Given the description of an element on the screen output the (x, y) to click on. 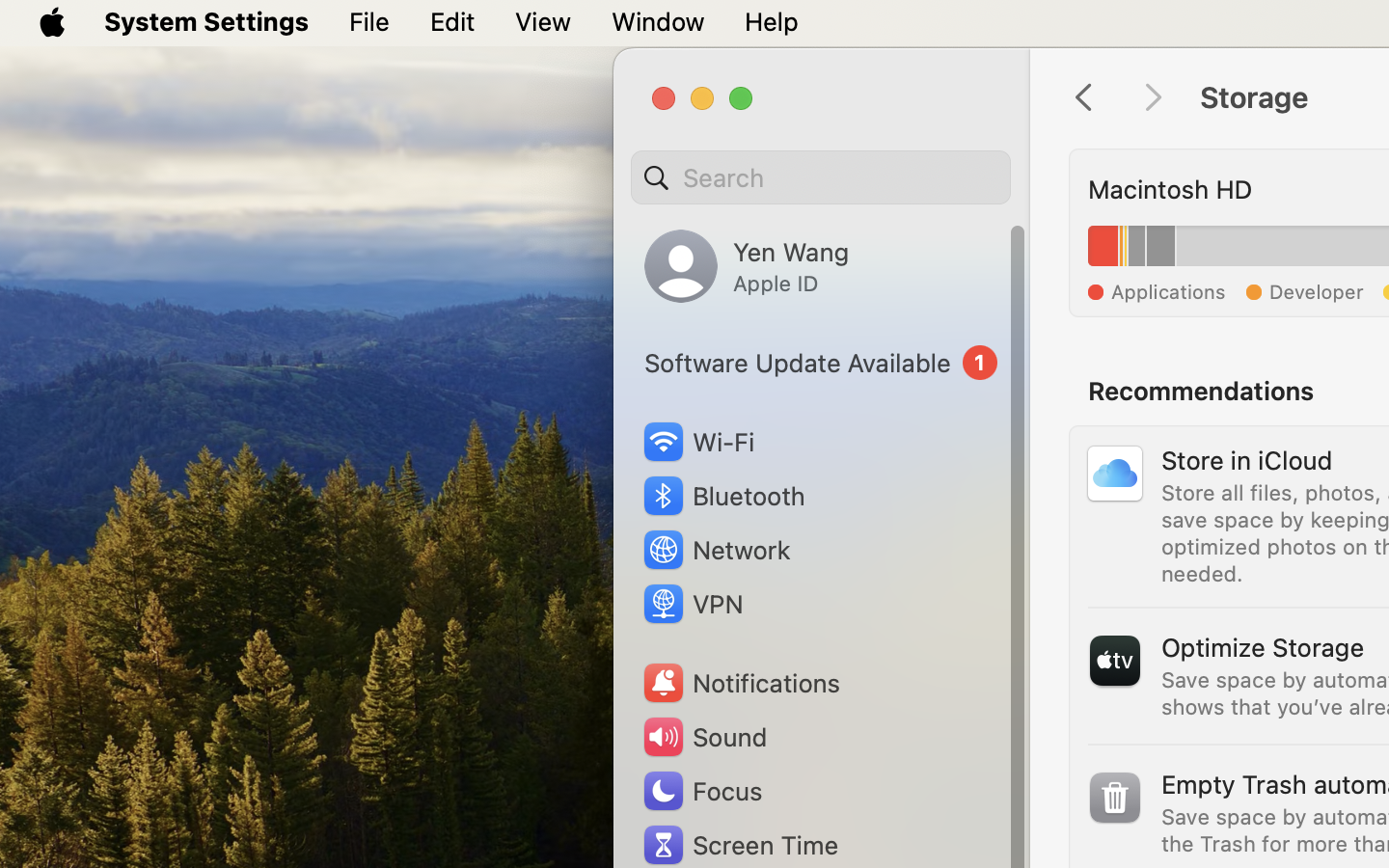
Optimize Storage Element type: AXStaticText (1262, 645)
Screen Time Element type: AXStaticText (739, 844)
Focus Element type: AXStaticText (701, 790)
Network Element type: AXStaticText (715, 549)
VPN Element type: AXStaticText (691, 603)
